Given the description of an element on the screen output the (x, y) to click on. 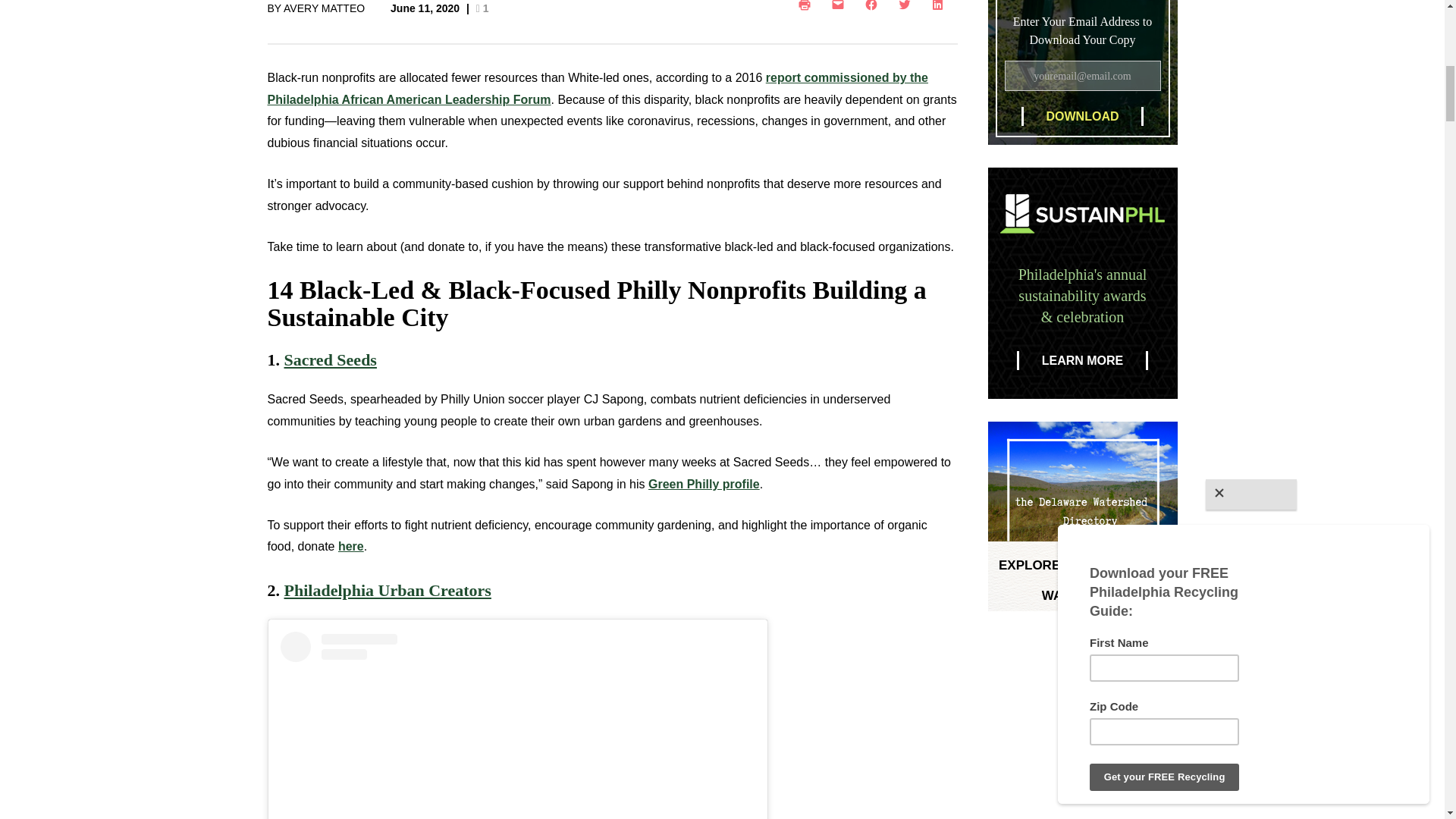
Click to share on LinkedIn (939, 7)
Click to share on Twitter (906, 7)
Click to email a link to a friend (840, 7)
Click to share on Facebook (873, 7)
Click to print (807, 7)
download (1081, 116)
